Given the description of an element on the screen output the (x, y) to click on. 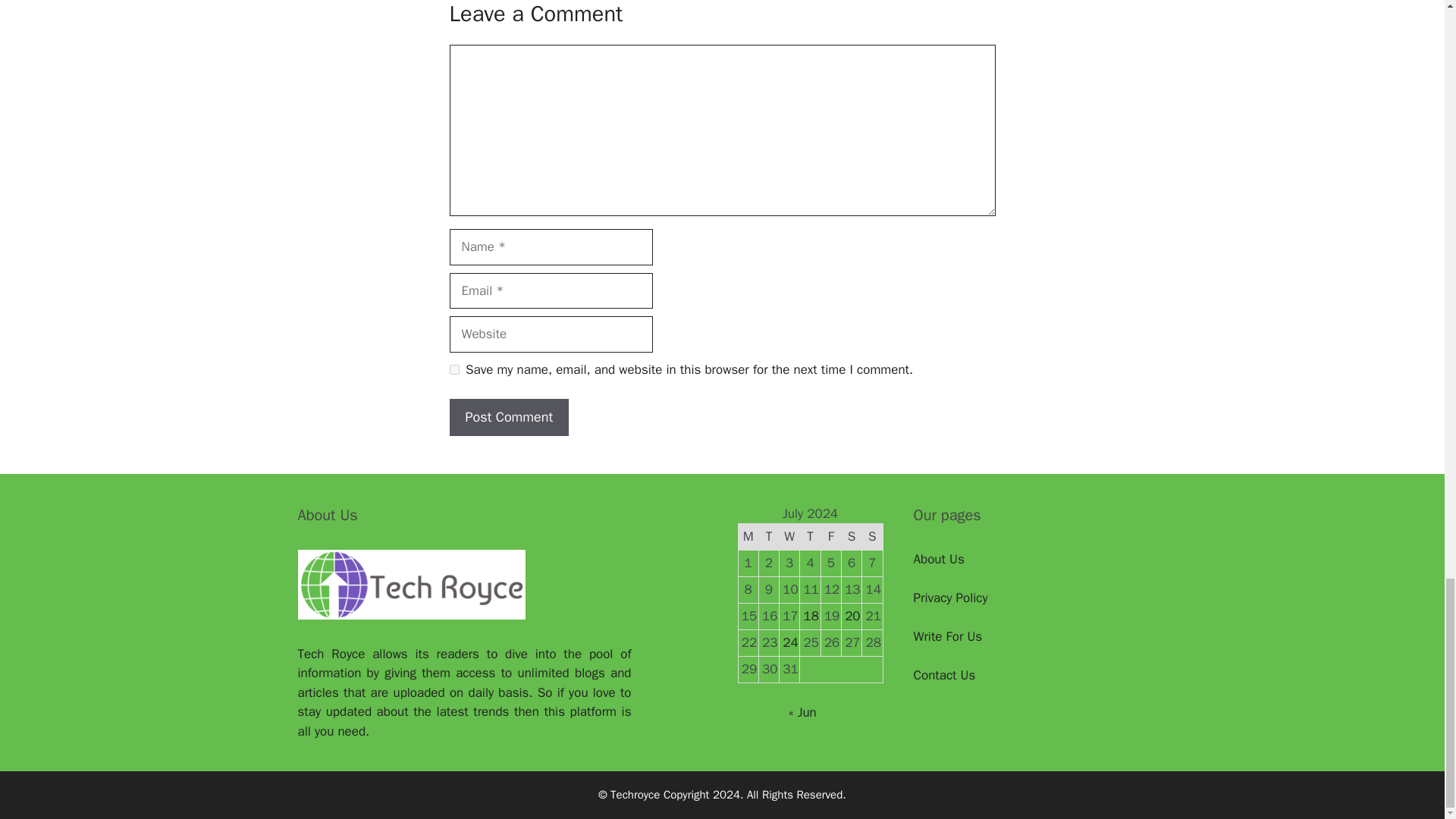
Tech Royce (331, 653)
yes (453, 369)
Post Comment (508, 416)
Post Comment (508, 416)
